Given the description of an element on the screen output the (x, y) to click on. 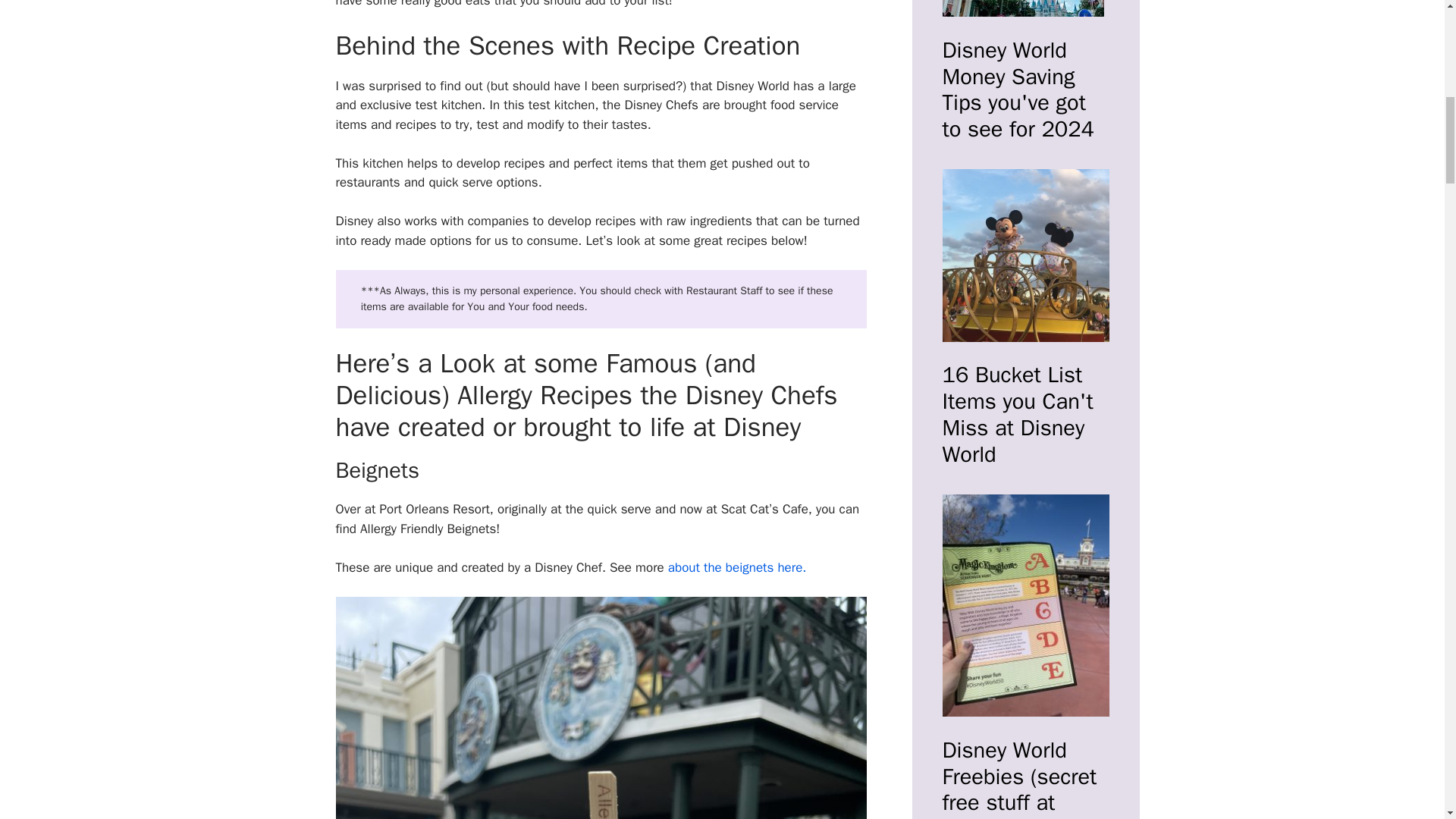
Disney World Money Saving Tips you've got to see for 2024 (1025, 90)
about the beignets here. (737, 567)
Disney World Money Saving Tips you've got to see for 2024 (1025, 11)
